Given the description of an element on the screen output the (x, y) to click on. 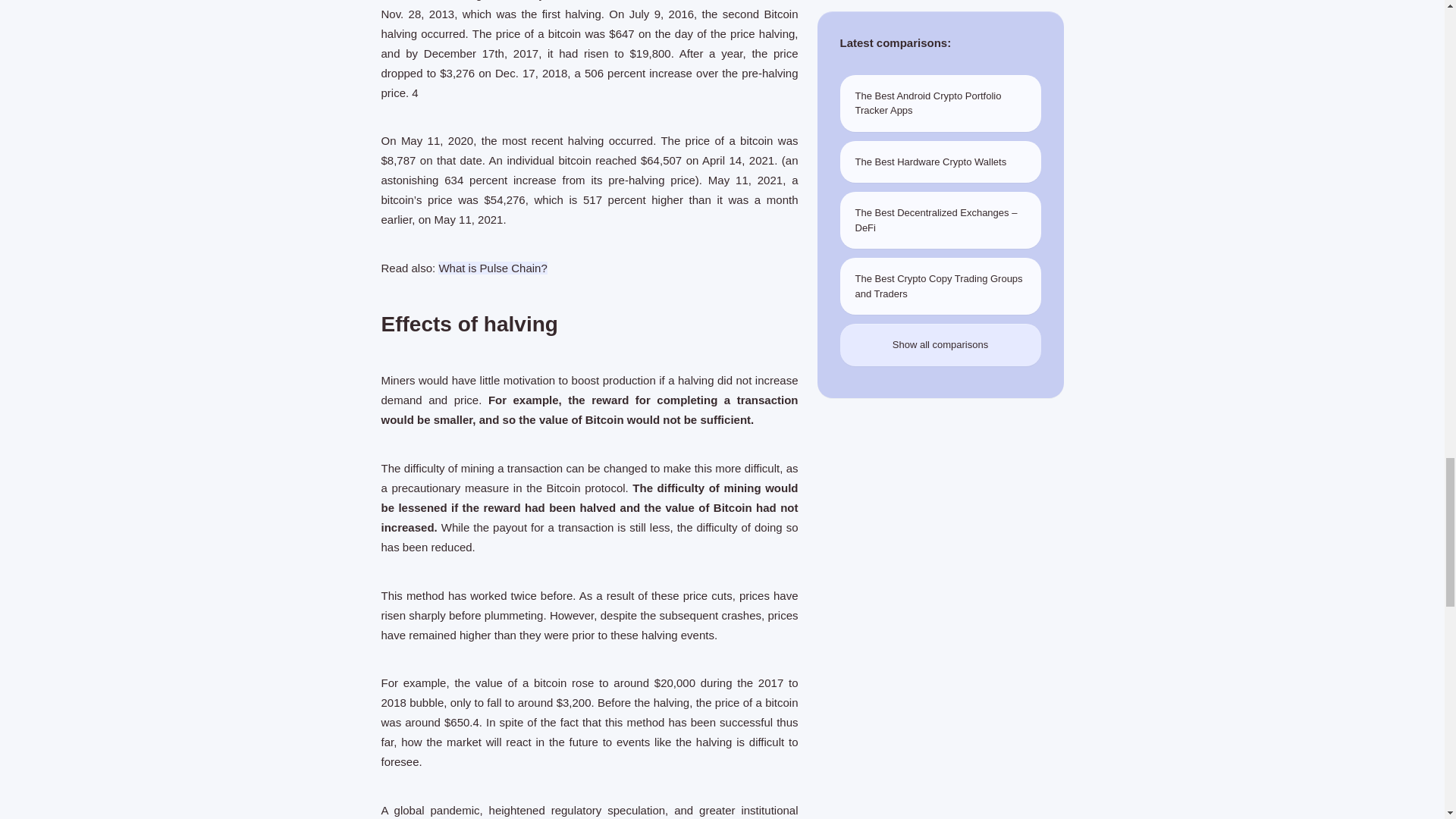
What is Pulse Chain? (492, 267)
What is Pulse Chain? (492, 267)
